Given the description of an element on the screen output the (x, y) to click on. 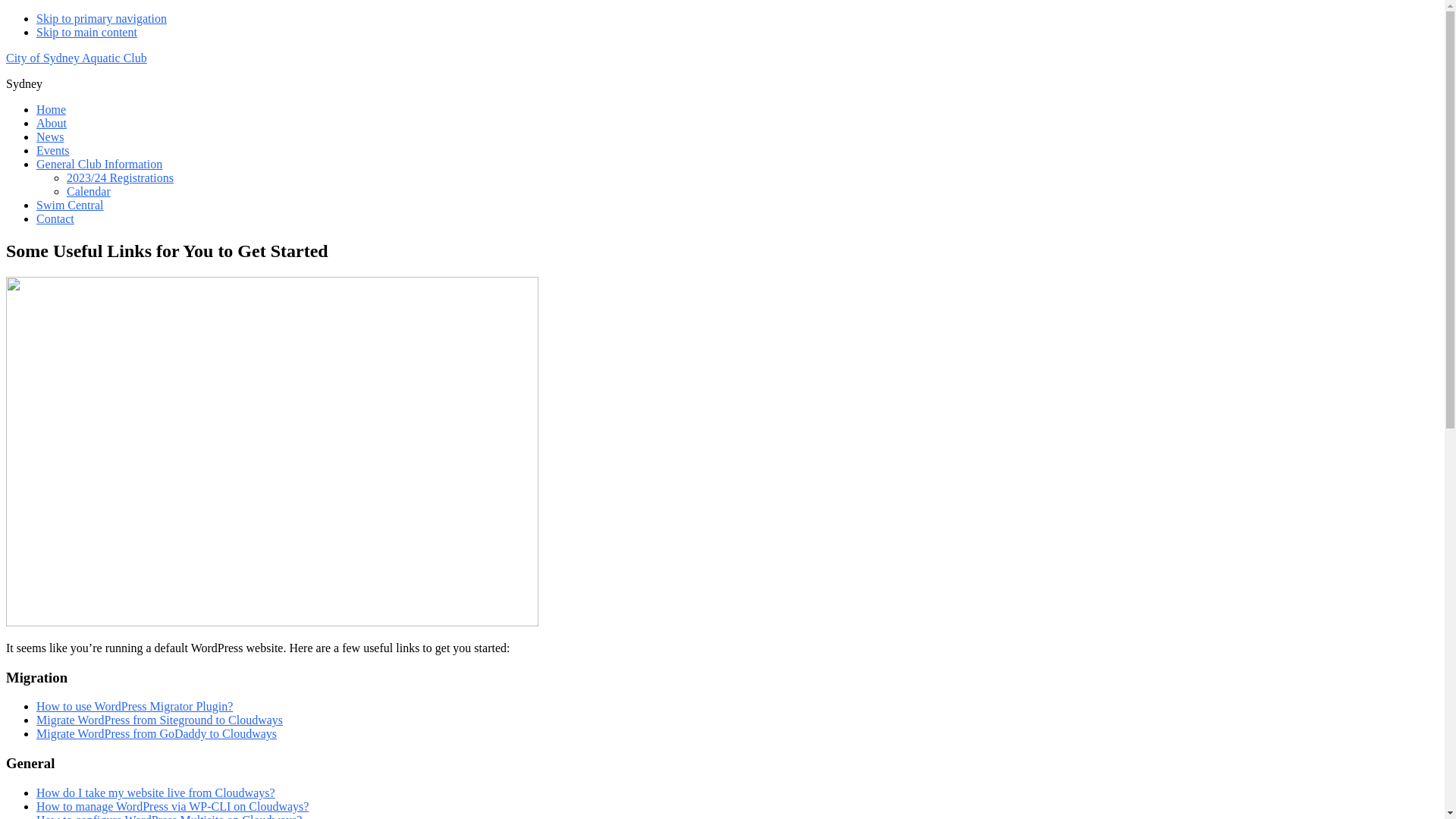
How do I take my website live from Cloudways? Element type: text (155, 792)
City of Sydney Aquatic Club Element type: text (76, 57)
General Club Information Element type: text (99, 163)
Home Element type: text (50, 109)
Contact Element type: text (55, 218)
How to use WordPress Migrator Plugin? Element type: text (134, 705)
How to manage WordPress via WP-CLI on Cloudways? Element type: text (172, 806)
News Element type: text (49, 136)
2023/24 Registrations Element type: text (119, 177)
About Element type: text (51, 122)
Calendar Element type: text (88, 191)
Swim Central Element type: text (69, 204)
Skip to primary navigation Element type: text (101, 18)
Migrate WordPress from GoDaddy to Cloudways Element type: text (156, 733)
Skip to main content Element type: text (86, 31)
Migrate WordPress from Siteground to Cloudways Element type: text (159, 719)
Events Element type: text (52, 150)
